Given the description of an element on the screen output the (x, y) to click on. 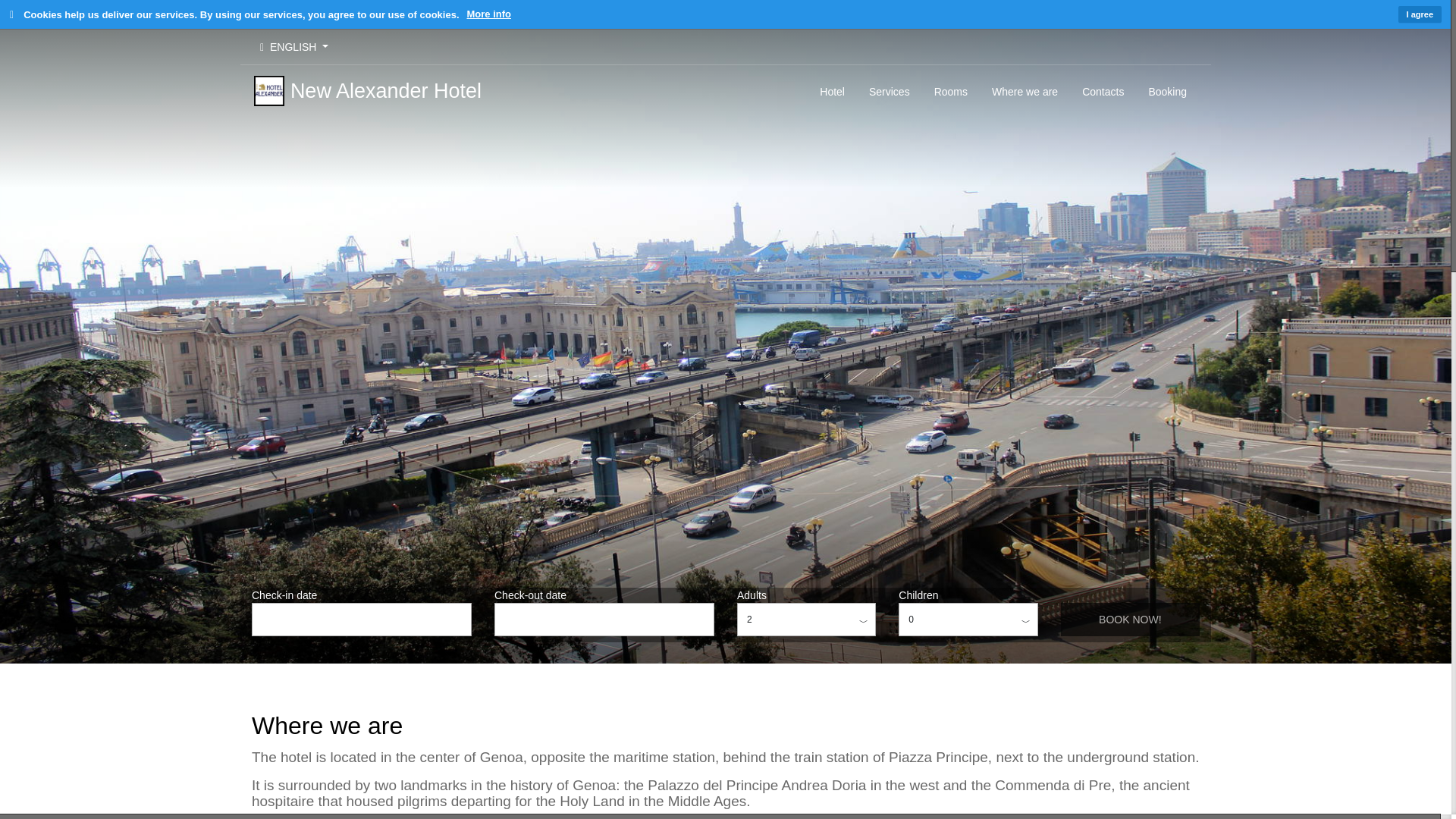
New Alexander Hotel (367, 91)
Rooms (950, 91)
Where we are (1024, 91)
Booking (1166, 91)
Contacts (1102, 91)
Hotel (832, 91)
I agree (1419, 13)
Services (889, 91)
0 (967, 619)
ENGLISH (294, 46)
BOOK NOW! (1130, 619)
2 (806, 619)
More info (489, 13)
